Given the description of an element on the screen output the (x, y) to click on. 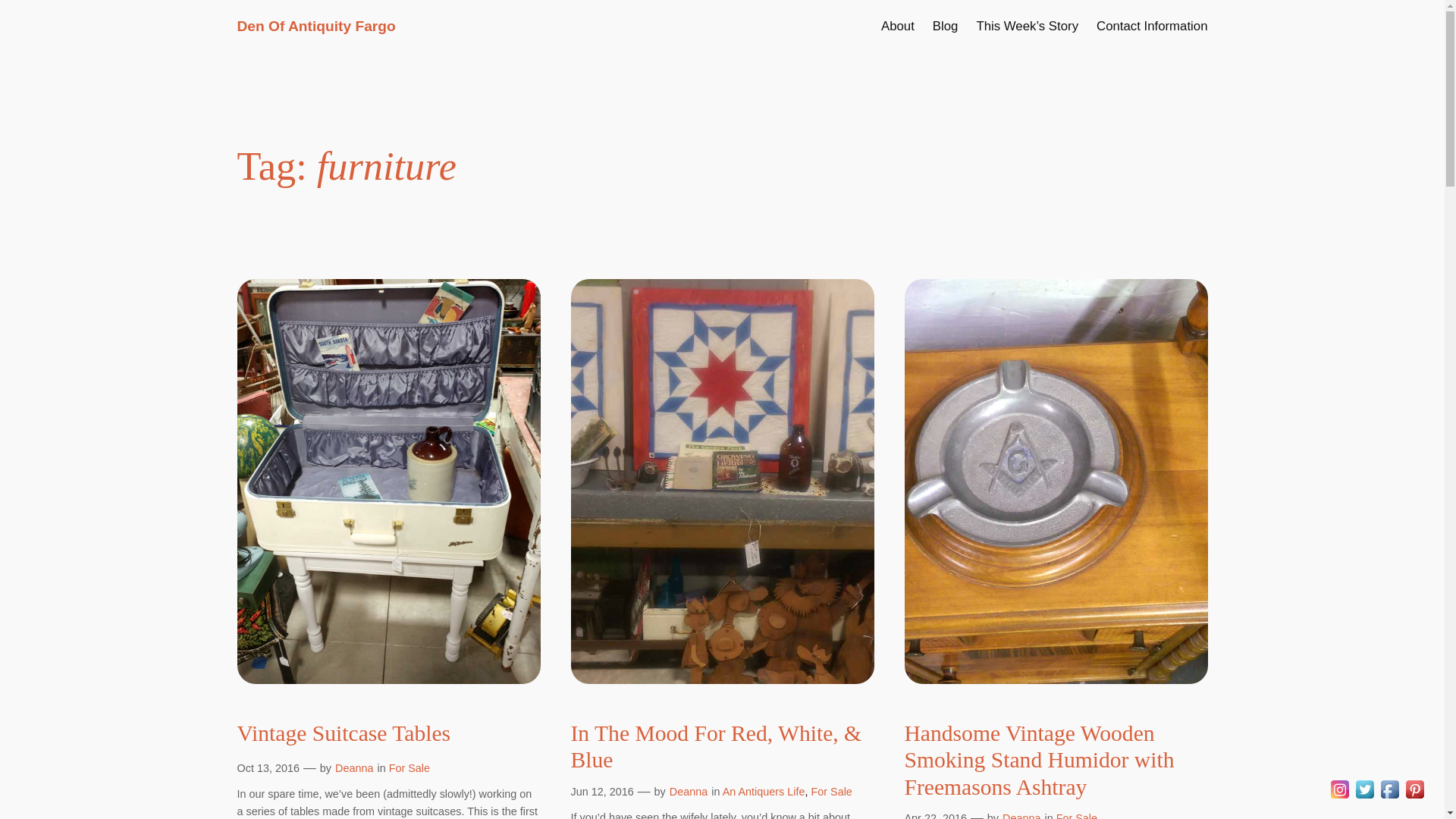
About (897, 26)
Deanna (353, 767)
Deanna (1022, 815)
Visit Us On Pinterest (1414, 797)
Jun 12, 2016 (601, 791)
Visit Us On Facebook (1389, 797)
Contact Information (1151, 26)
For Sale (830, 791)
Blog (945, 26)
An Antiquers Life (763, 791)
Apr 22, 2016 (935, 815)
Oct 13, 2016 (266, 767)
Blog (945, 26)
Deanna (688, 791)
